Given the description of an element on the screen output the (x, y) to click on. 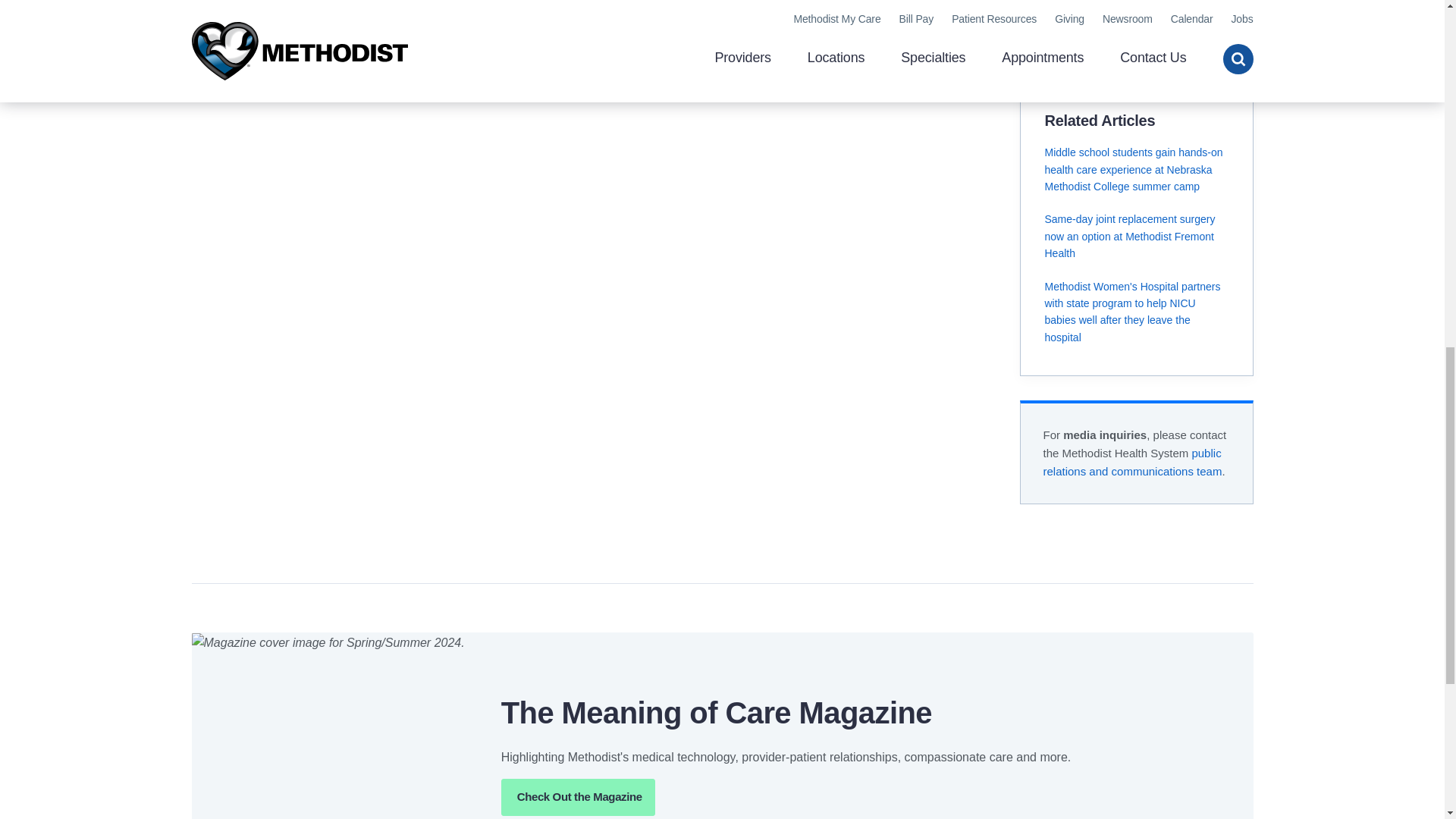
public relations and communications team (1133, 461)
Methodist Health System media inquiry (1133, 461)
Women's Health (1085, 19)
Check Out the Magazine (577, 796)
